Given the description of an element on the screen output the (x, y) to click on. 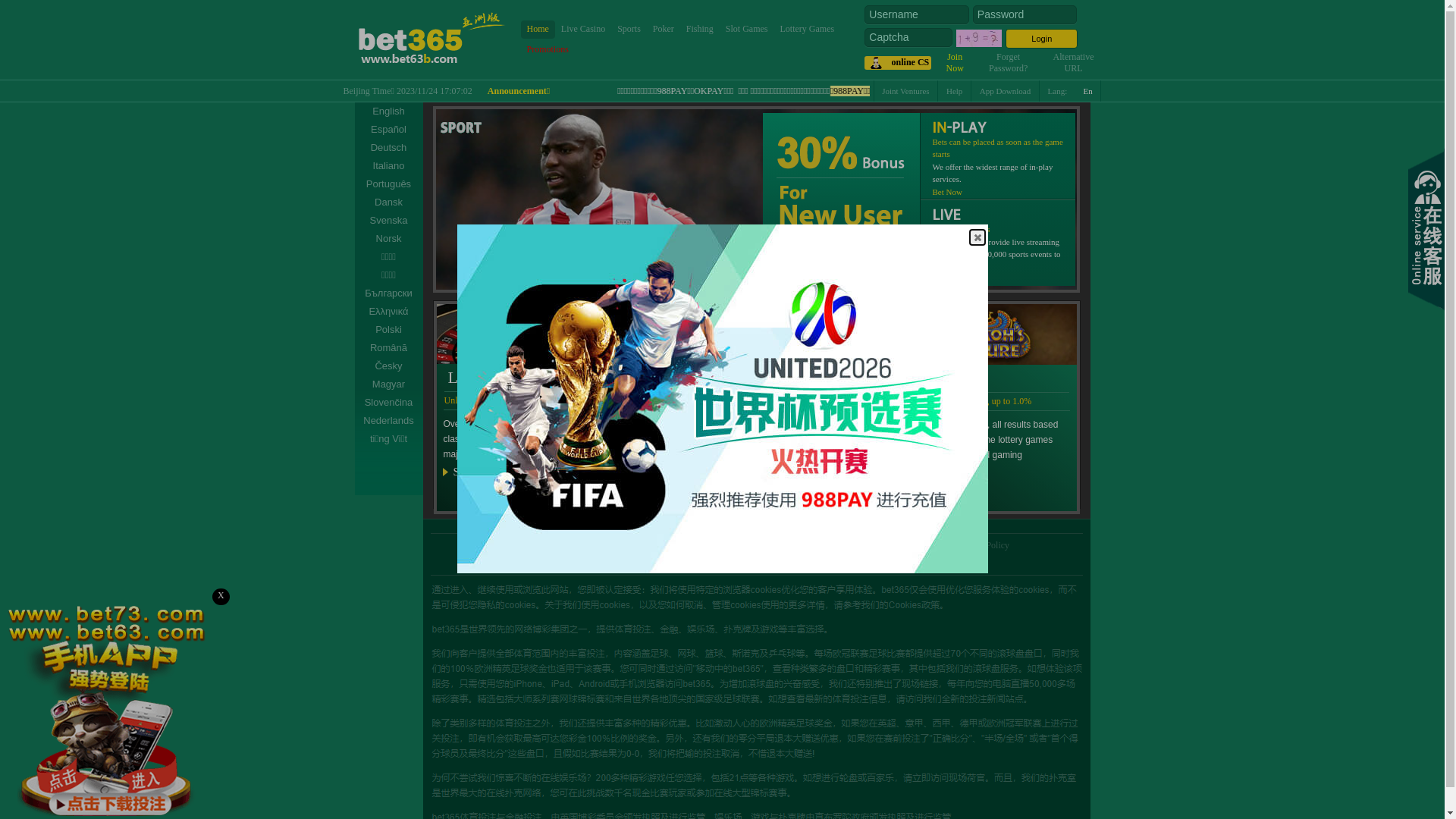
Cookies Policy Element type: text (981, 544)
Poker Element type: text (663, 28)
Close Element type: hover (977, 236)
Help Element type: text (954, 90)
Dansk Element type: text (388, 202)
Login Element type: text (1041, 38)
Home Element type: text (537, 28)
Terms Element type: text (611, 544)
Privacy Policy Element type: text (663, 544)
Live Casino Element type: text (583, 28)
Promotions Element type: text (547, 49)
Alternative URL Element type: text (1073, 62)
Sports Element type: text (628, 28)
Fishing Element type: text (699, 28)
Deutsch Element type: text (388, 147)
English Element type: text (388, 111)
Polski Element type: text (388, 329)
Svenska Element type: text (388, 220)
Magyar Element type: text (388, 384)
Slot Games Element type: text (746, 28)
Lottery Games Element type: text (807, 28)
Norsk Element type: text (388, 238)
En Element type: text (1088, 90)
Joint Ventures Element type: text (813, 544)
Italiano Element type: text (388, 165)
Forget Password? Element type: text (1008, 62)
Join Now Element type: text (954, 62)
Deposits Element type: text (869, 544)
Contact Us Element type: text (919, 544)
Joint Ventures Element type: text (905, 90)
Responsible Gambling Element type: text (544, 544)
Fair Compensation Element type: text (739, 544)
online CS Element type: text (897, 62)
Nederlands Element type: text (388, 420)
App Download Element type: text (1005, 90)
